Given the description of an element on the screen output the (x, y) to click on. 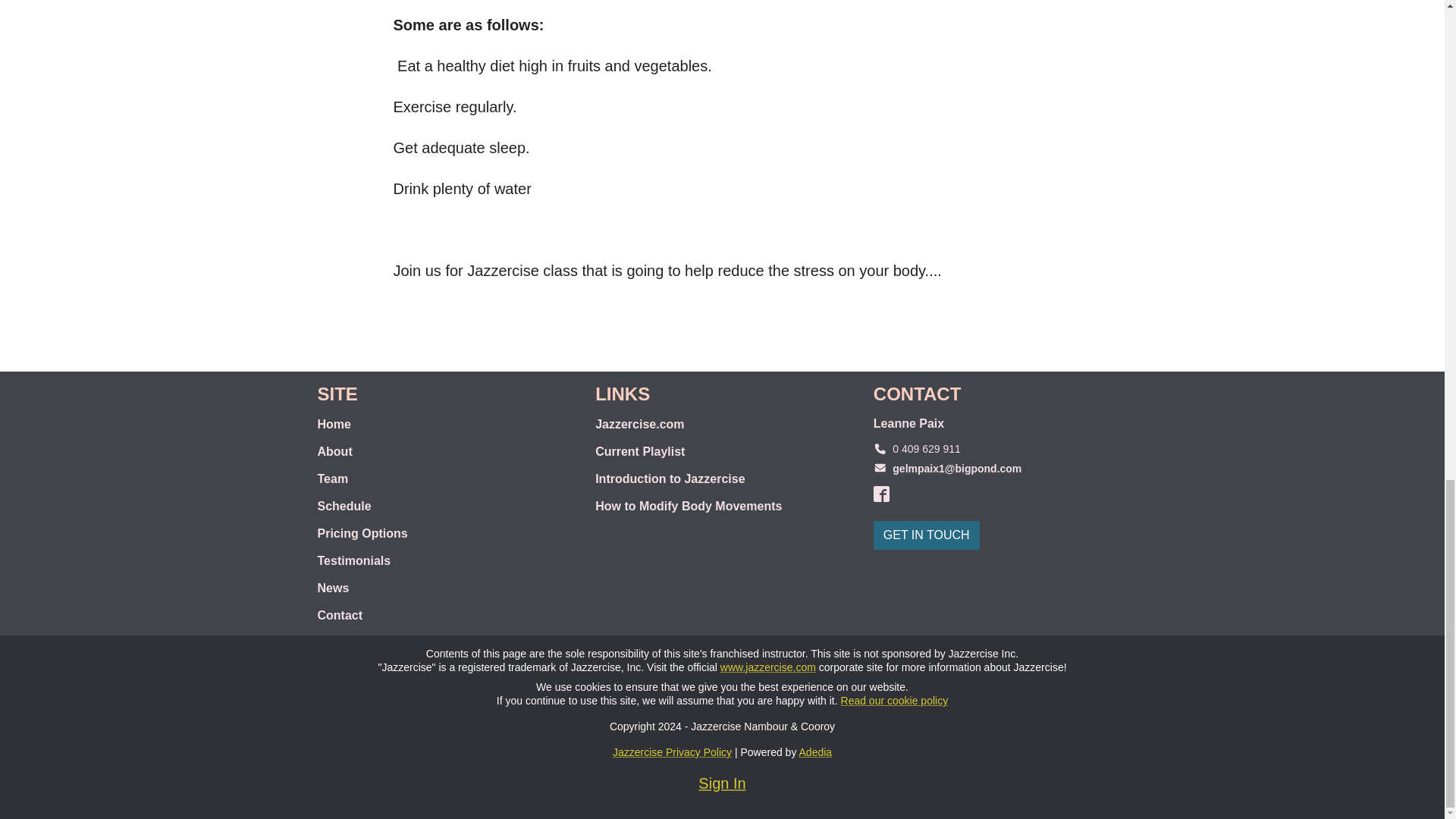
Sign In (721, 782)
Home (443, 424)
www.jazzercise.com (767, 666)
Testimonials (443, 560)
Introduction to Jazzercise (721, 478)
About (443, 451)
News (443, 588)
Current Playlist (721, 451)
Schedule (443, 506)
GET IN TOUCH (926, 534)
